Given the description of an element on the screen output the (x, y) to click on. 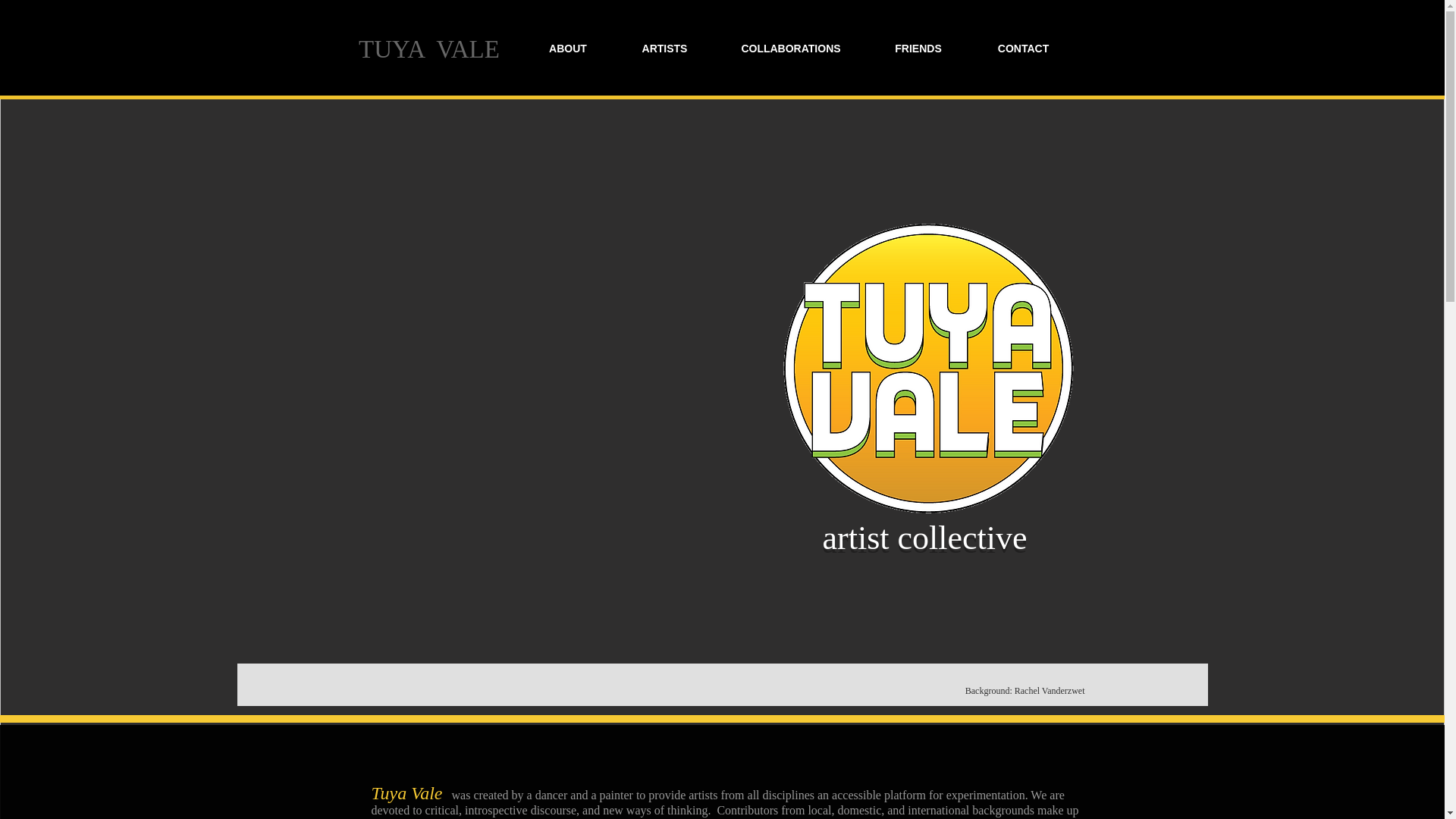
ARTISTS (664, 48)
FRIENDS (917, 48)
CONTACT (1023, 48)
TUYA  VALE (429, 48)
Background: Rachel Vanderzwet (1024, 690)
COLLABORATIONS (790, 48)
ABOUT (566, 48)
